Given the description of an element on the screen output the (x, y) to click on. 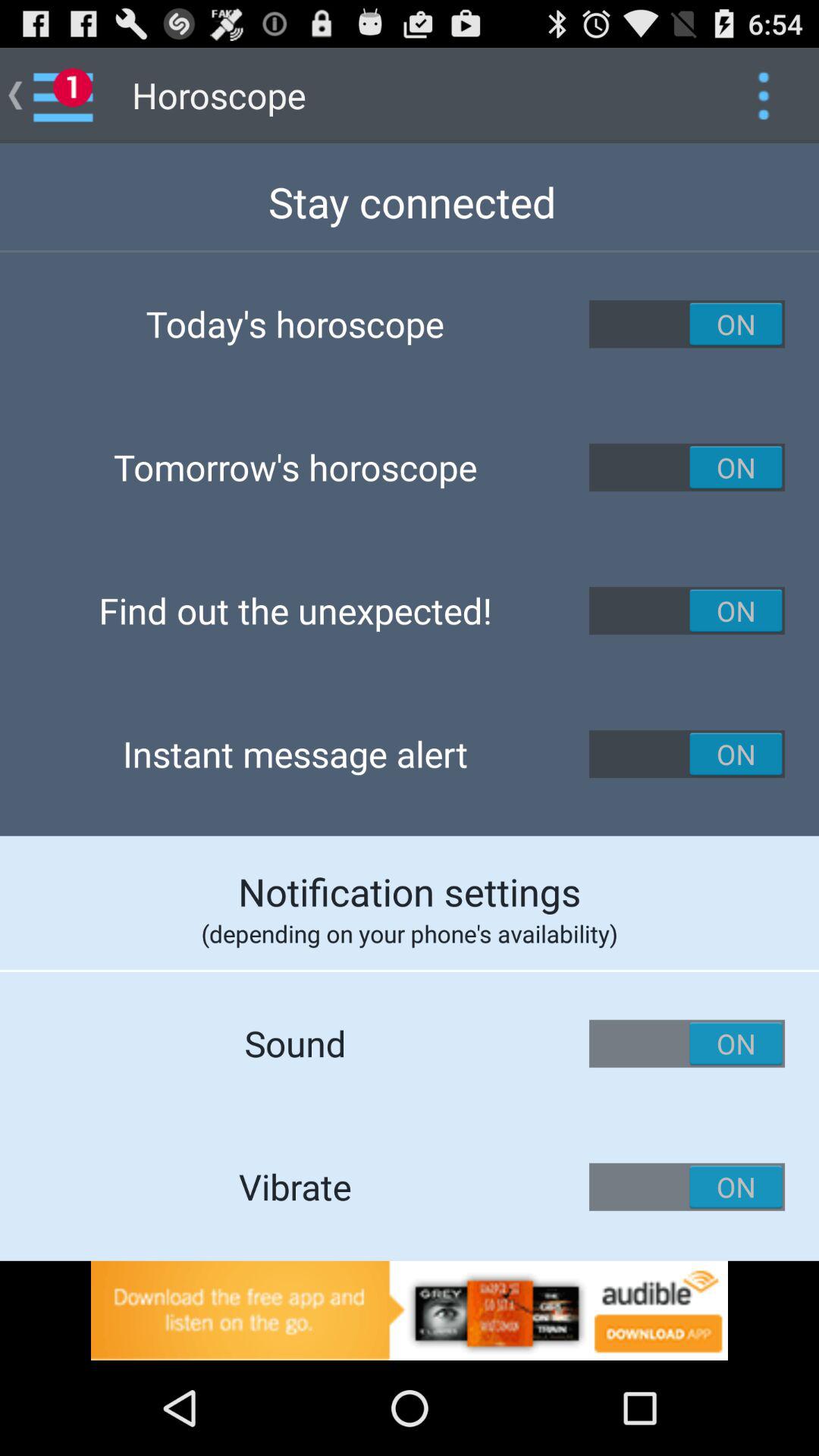
toggle tomorrow 's horoscope (686, 467)
